Given the description of an element on the screen output the (x, y) to click on. 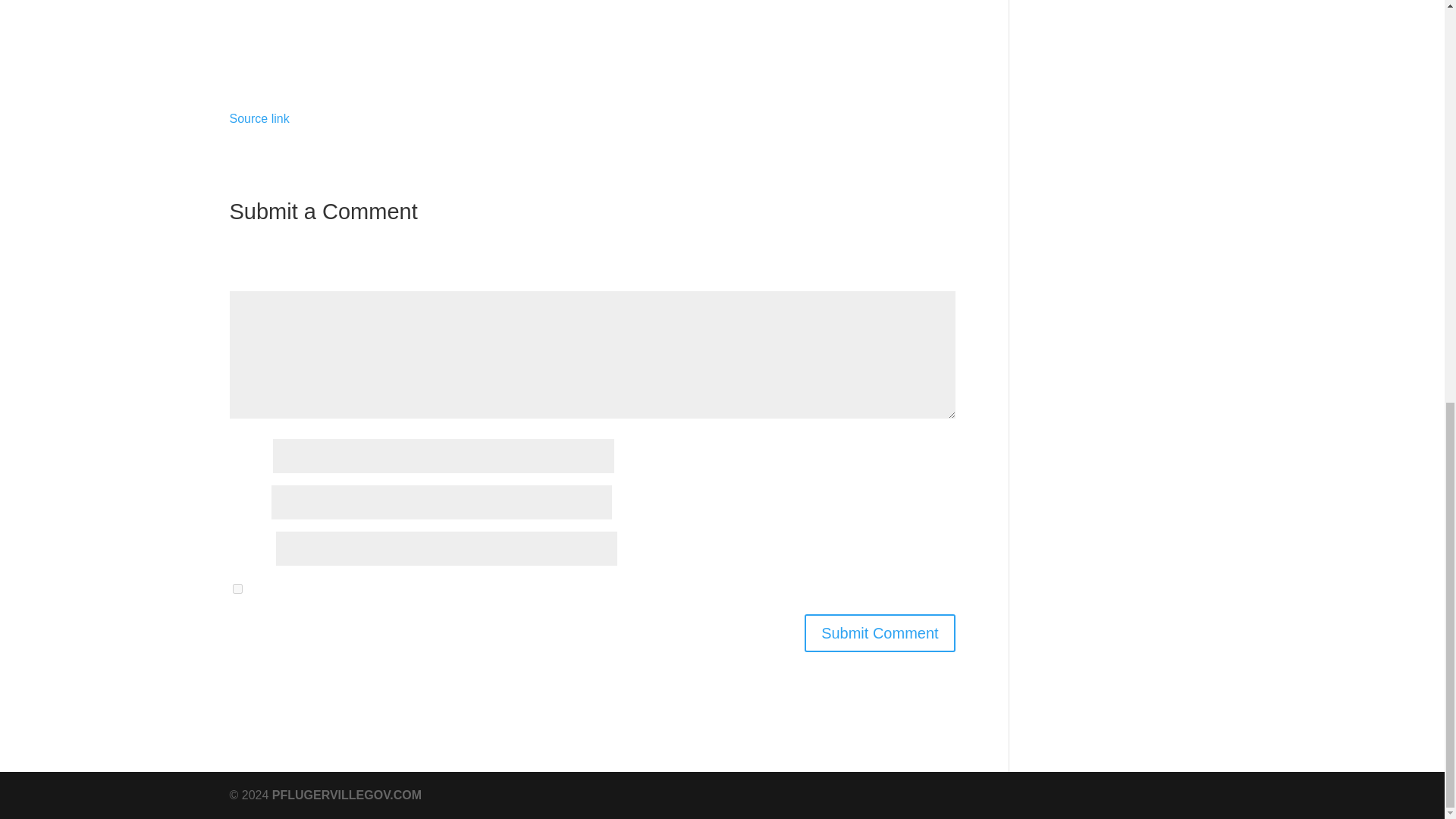
Source link (258, 118)
yes (236, 588)
PFLUGERVILLEGOV.COM (347, 794)
Submit Comment (880, 632)
Submit Comment (880, 632)
